Given the description of an element on the screen output the (x, y) to click on. 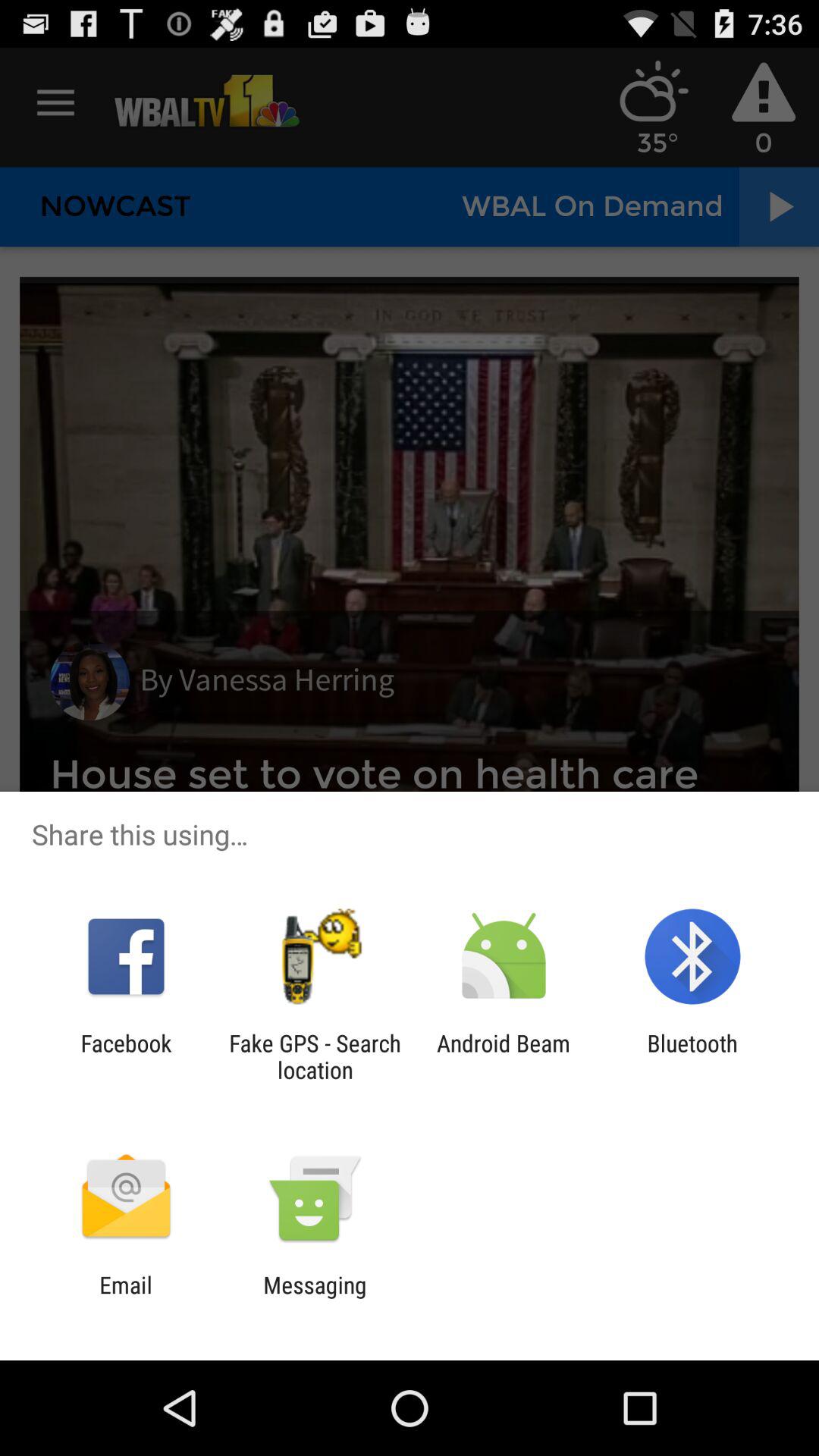
press the bluetooth (692, 1056)
